Given the description of an element on the screen output the (x, y) to click on. 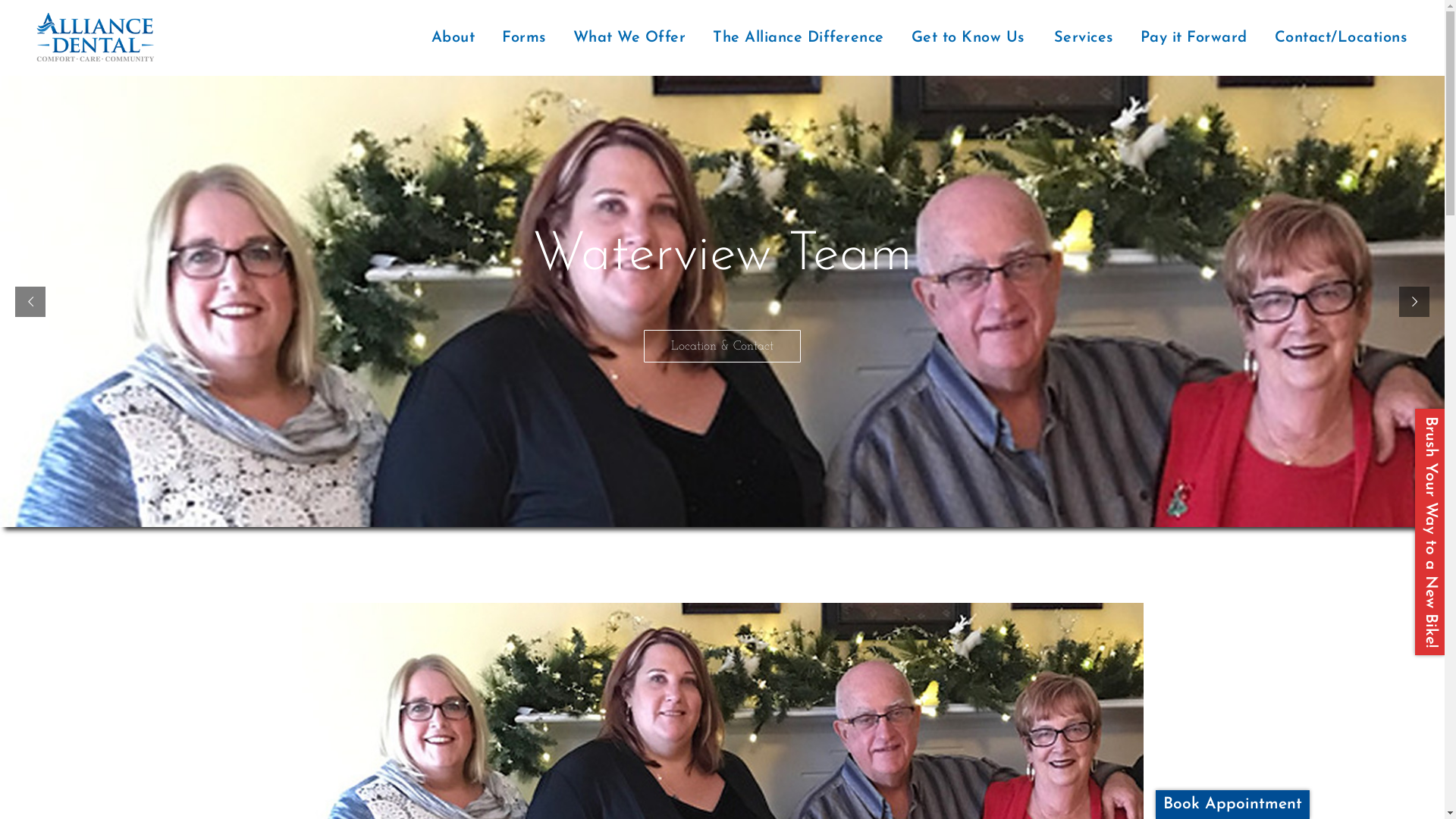
Forms Element type: text (523, 37)
What We Offer Element type: text (628, 37)
Contact/Locations Element type: text (1341, 37)
About Element type: text (453, 37)
The Alliance Difference Element type: text (798, 37)
Alliance Dental Element type: hover (95, 37)
Location & Contact Element type: text (721, 345)
Get to Know Us Element type: text (967, 37)
Pay it Forward Element type: text (1192, 37)
Services Element type: text (1082, 37)
